Given the description of an element on the screen output the (x, y) to click on. 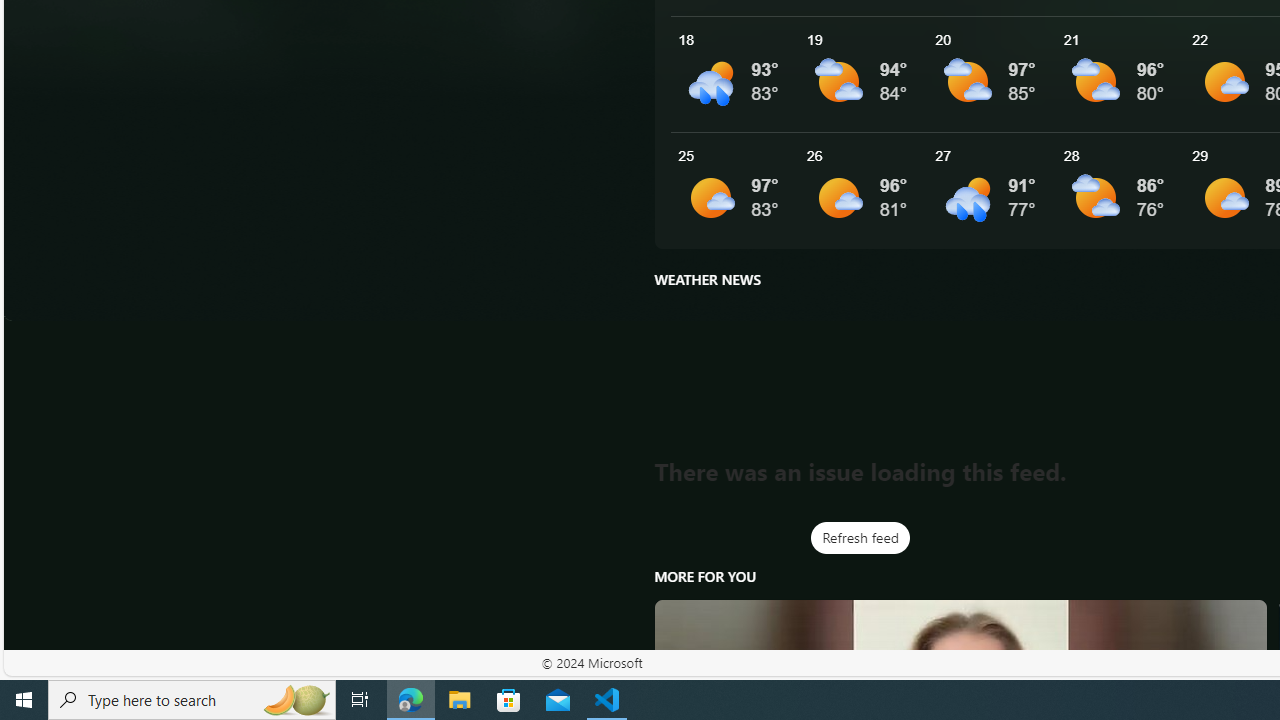
Refresh feed (860, 538)
